Given the description of an element on the screen output the (x, y) to click on. 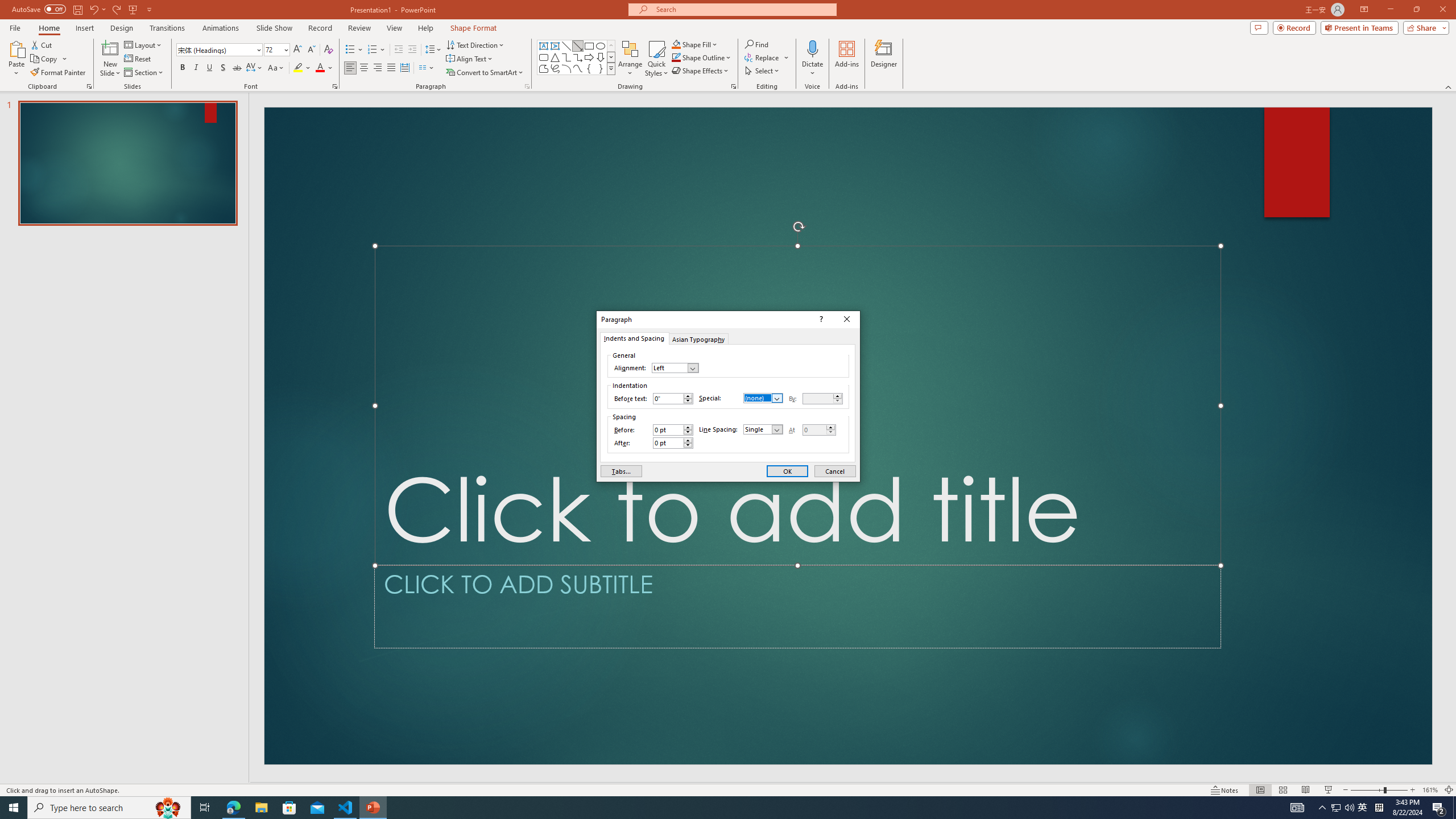
At (818, 429)
Reset (138, 58)
Underline (209, 67)
Alignment (675, 367)
Shapes (611, 68)
Change Case (276, 67)
Align Right (377, 67)
Start (13, 807)
Line Arrow (577, 45)
